Given the description of an element on the screen output the (x, y) to click on. 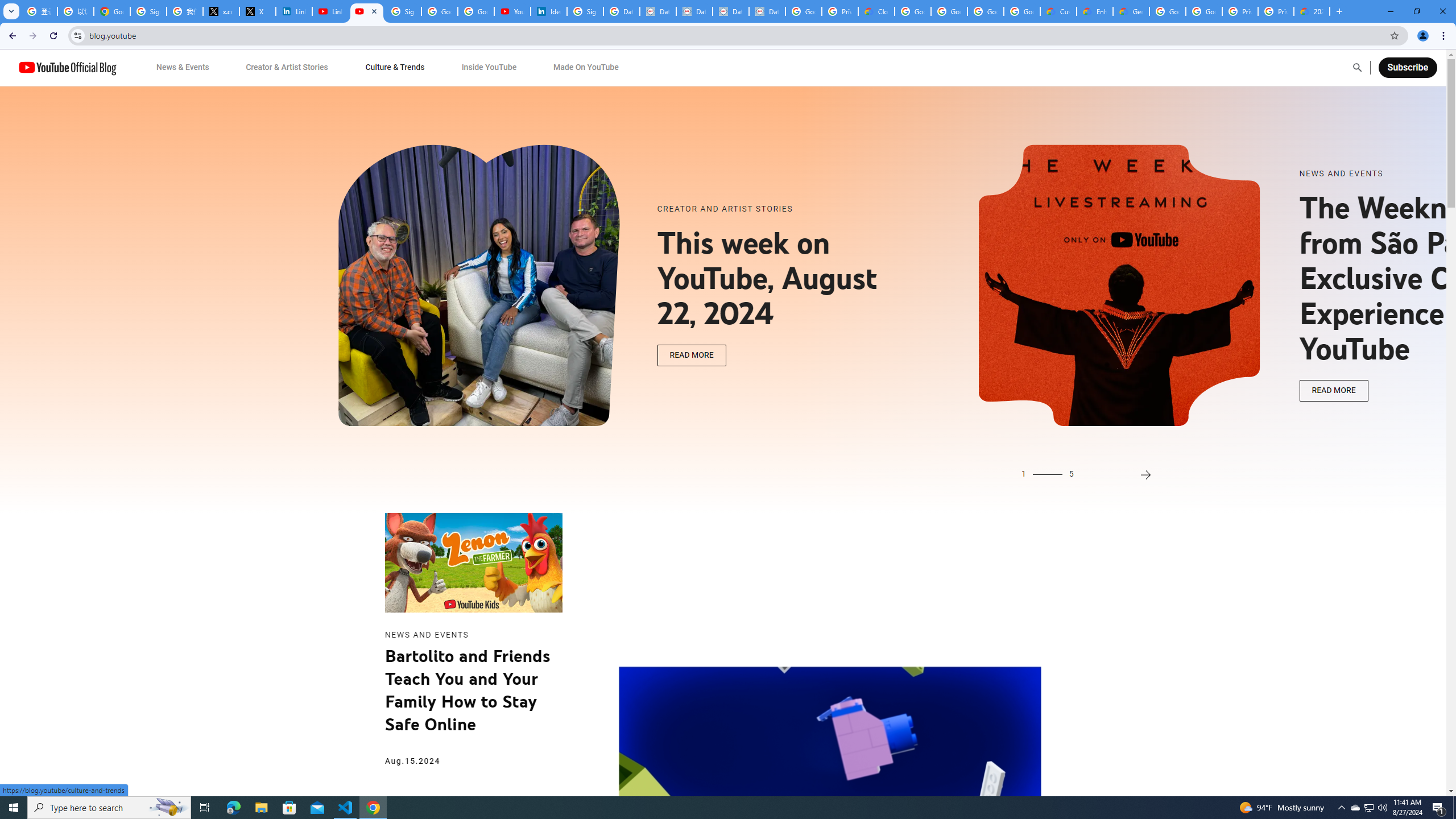
Inside YouTube (488, 67)
Made On YouTube (585, 67)
Enhanced Support | Google Cloud (1094, 11)
CREATOR AND ARTIST STORIES (780, 208)
